Given the description of an element on the screen output the (x, y) to click on. 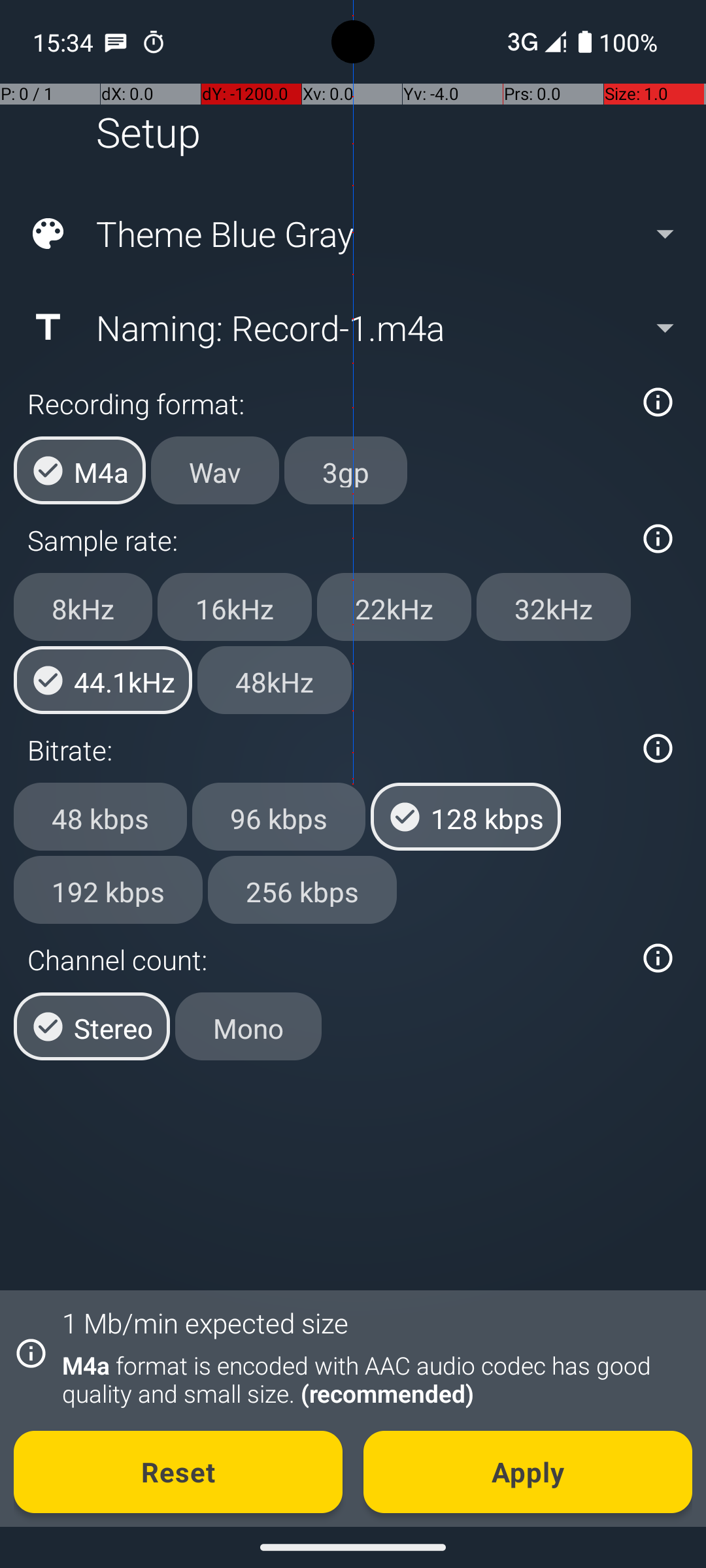
1 Mb/min expected size Element type: android.widget.TextView (205, 1322)
M4a format is encoded with AAC audio codec has good quality and small size. (recommended) Element type: android.widget.TextView (370, 1378)
Reset Element type: android.widget.Button (177, 1471)
Apply Element type: android.widget.Button (527, 1471)
Setup Element type: android.widget.TextView (148, 131)
Recording format: Element type: android.widget.TextView (325, 403)
M4a Element type: android.widget.TextView (79, 470)
Wav Element type: android.widget.TextView (215, 470)
3gp Element type: android.widget.TextView (345, 470)
Sample rate: Element type: android.widget.TextView (325, 539)
44.1kHz Element type: android.widget.TextView (102, 680)
16kHz Element type: android.widget.TextView (234, 606)
22kHz Element type: android.widget.TextView (394, 606)
32kHz Element type: android.widget.TextView (553, 606)
48kHz Element type: android.widget.TextView (274, 680)
8kHz Element type: android.widget.TextView (82, 606)
Bitrate: Element type: android.widget.TextView (325, 749)
128 kbps Element type: android.widget.TextView (465, 816)
192 kbps Element type: android.widget.TextView (107, 889)
256 kbps Element type: android.widget.TextView (301, 889)
48 kbps Element type: android.widget.TextView (99, 816)
96 kbps Element type: android.widget.TextView (278, 816)
Channel count: Element type: android.widget.TextView (325, 959)
Stereo Element type: android.widget.TextView (91, 1026)
Mono Element type: android.widget.TextView (248, 1026)
Theme Blue Gray Element type: android.widget.TextView (352, 233)
Naming: Record-1.m4a Element type: android.widget.TextView (352, 327)
15:34 Element type: android.widget.TextView (64, 41)
SMS Messenger notification: Matteo Ibrahim Element type: android.widget.ImageView (115, 41)
Clock notification:  Element type: android.widget.ImageView (153, 41)
Phone signal full. Element type: android.widget.FrameLayout (534, 41)
Battery 100 percent. Element type: android.widget.LinearLayout (617, 41)
No internet Element type: android.widget.ImageView (521, 41)
